Given the description of an element on the screen output the (x, y) to click on. 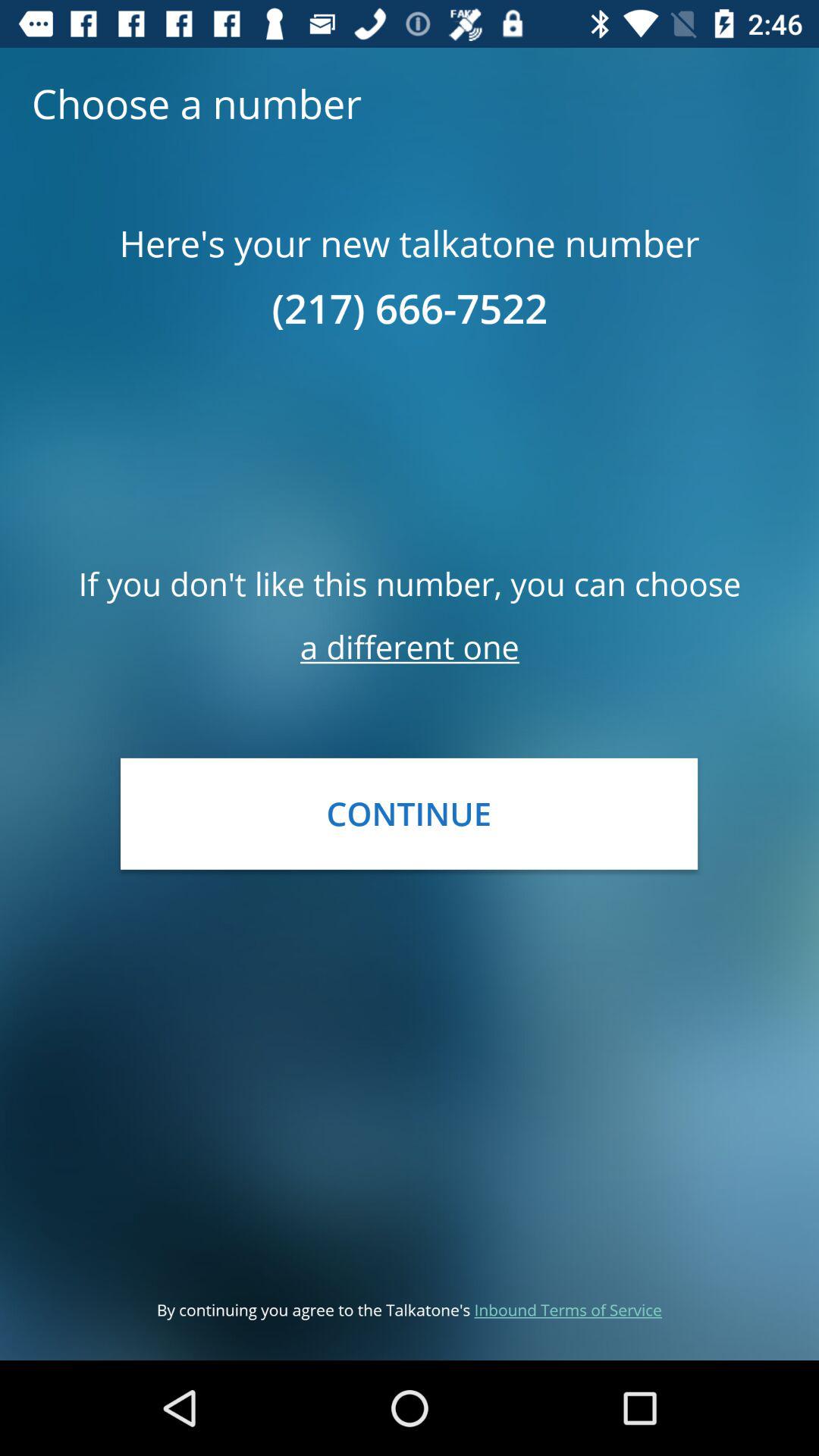
launch continue item (408, 813)
